Given the description of an element on the screen output the (x, y) to click on. 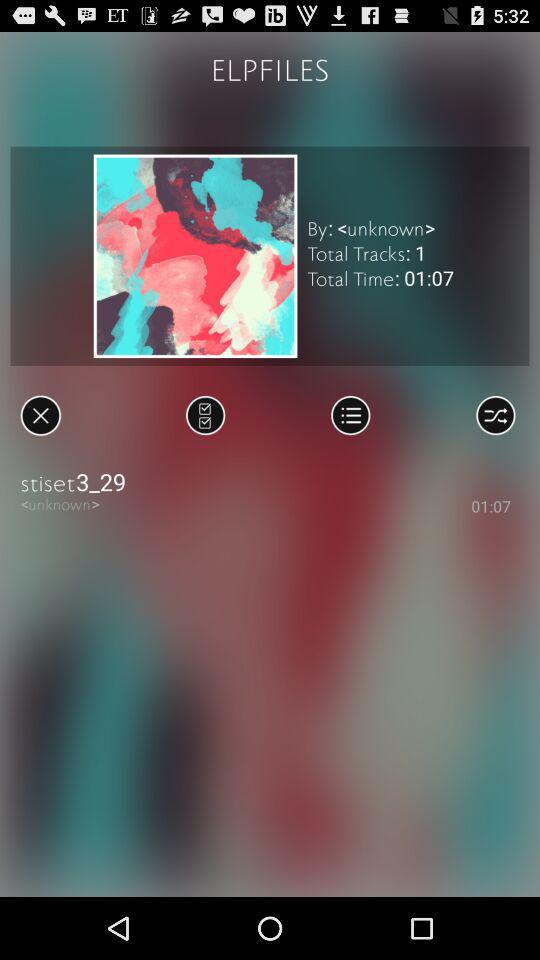
press the icon above <unknown> (270, 481)
